Given the description of an element on the screen output the (x, y) to click on. 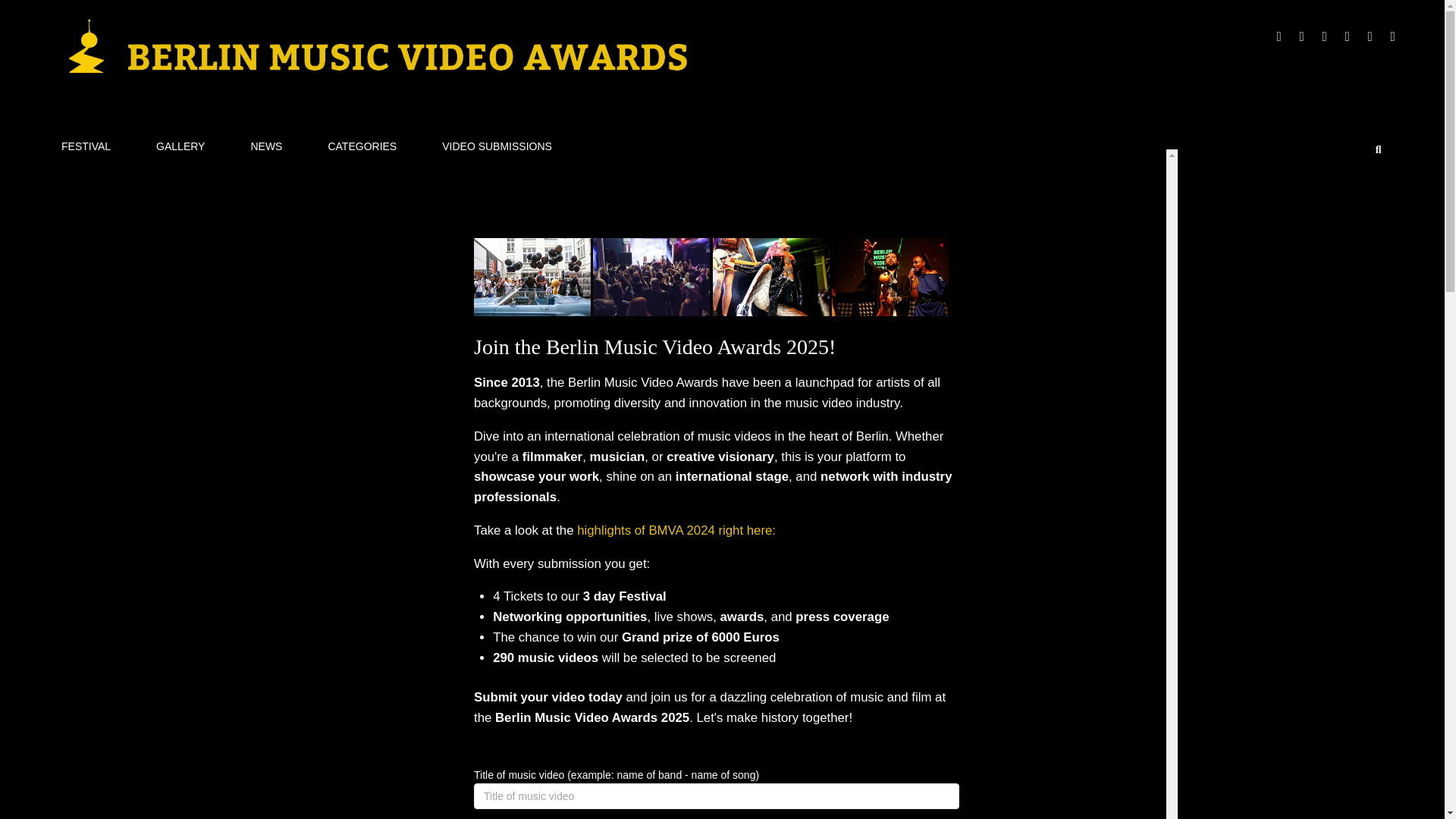
FESTIVAL (85, 146)
GALLERY (180, 146)
CATEGORIES (361, 146)
NEWS (266, 146)
VIDEO SUBMISSIONS (496, 146)
